Given the description of an element on the screen output the (x, y) to click on. 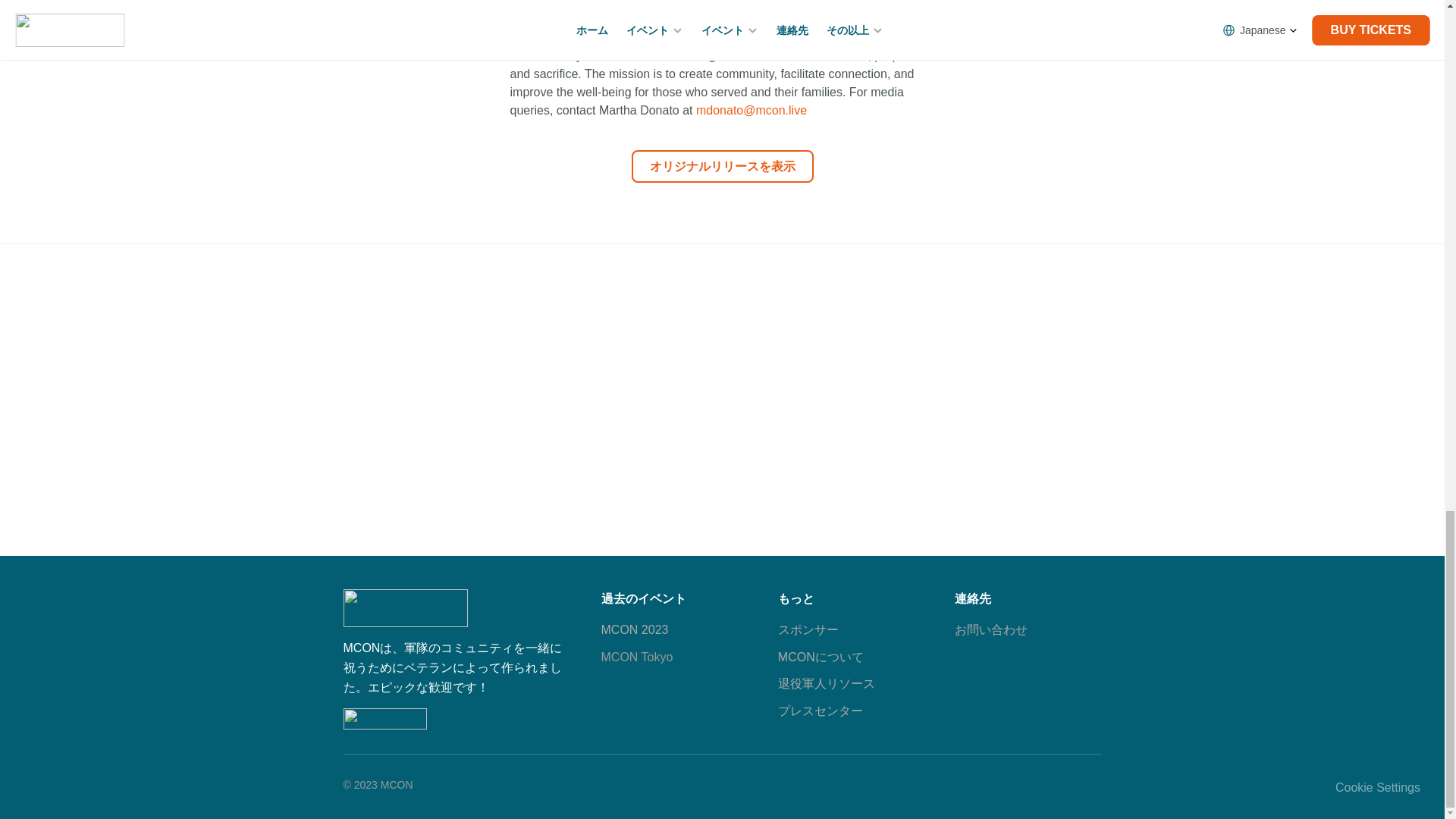
MCON 2023 (633, 629)
Cookie Settings (1378, 787)
